Given the description of an element on the screen output the (x, y) to click on. 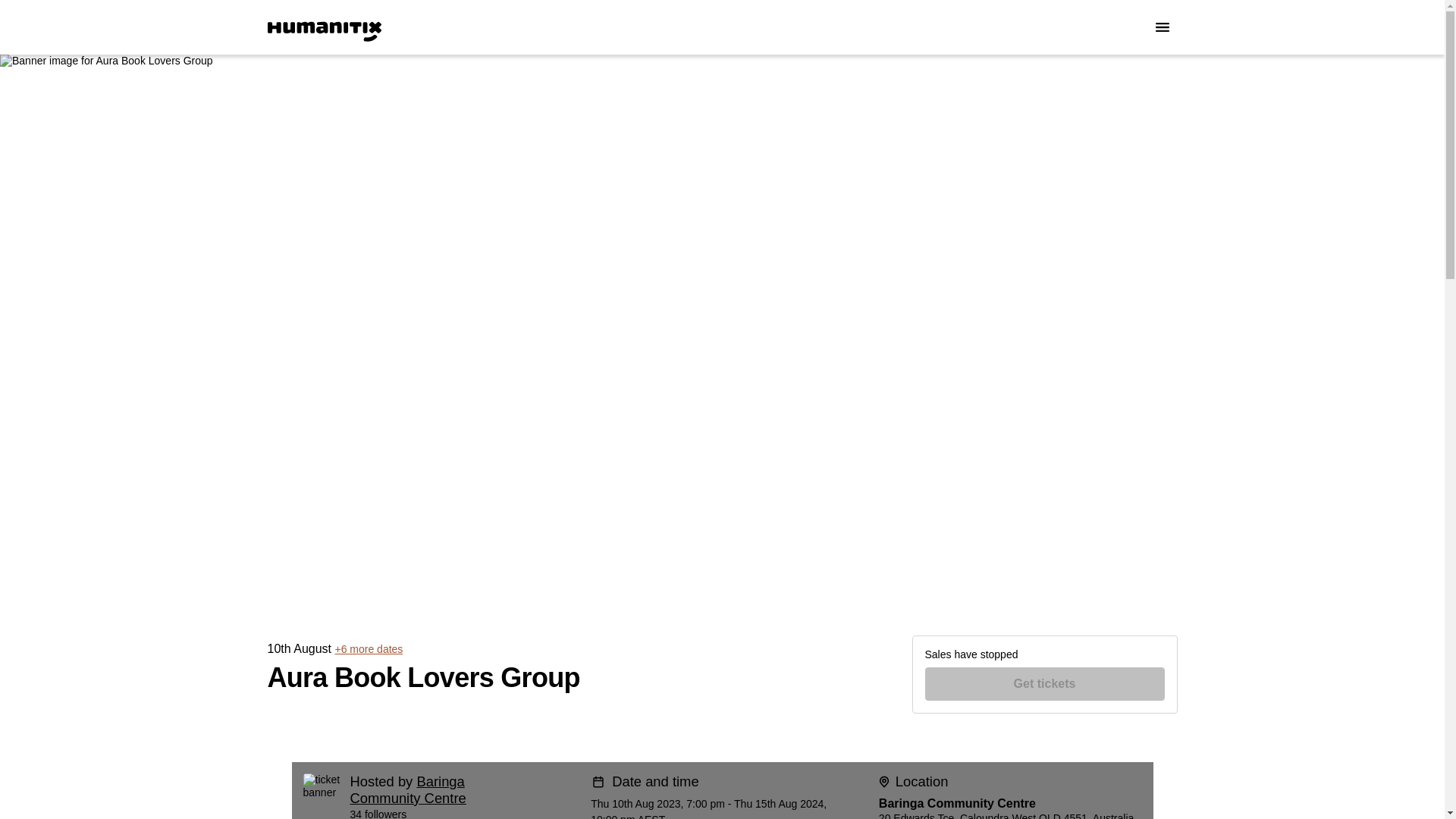
Baringa Community Centre (407, 789)
Skip to Content (18, 18)
Get tickets (1044, 684)
